Given the description of an element on the screen output the (x, y) to click on. 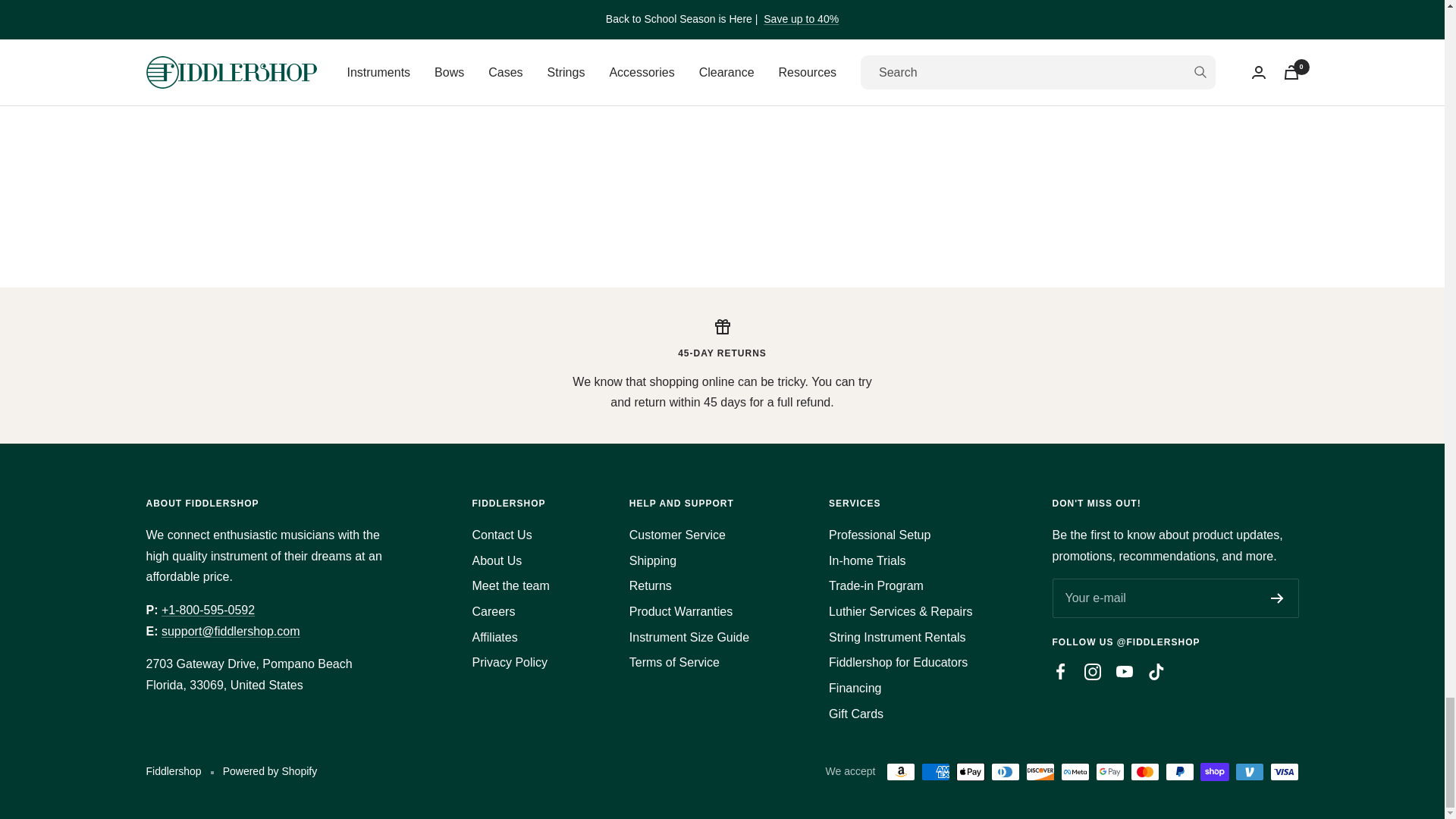
tel:18005950592 (207, 609)
Fiddlershop Customer Support Email (230, 631)
